Given the description of an element on the screen output the (x, y) to click on. 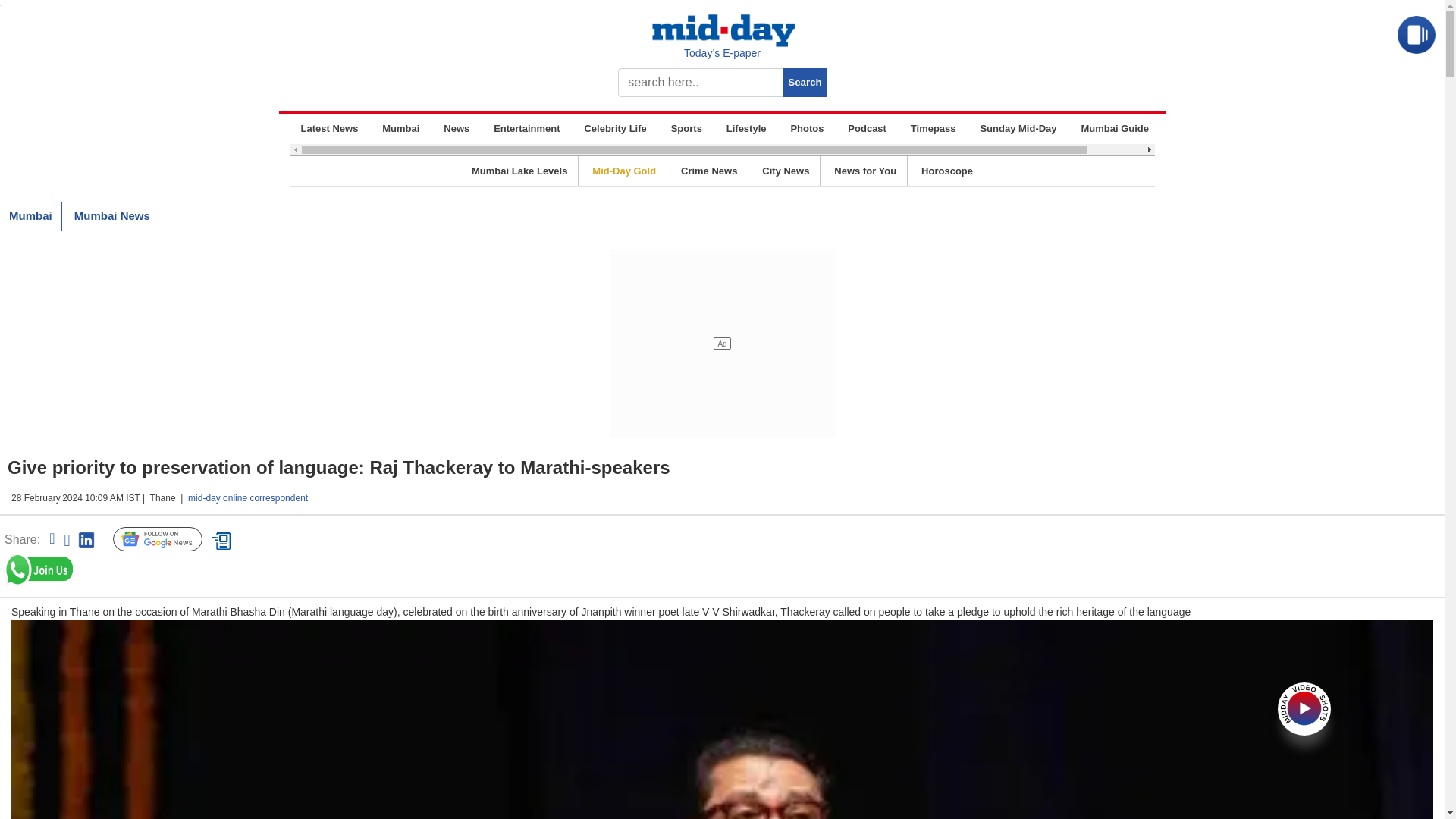
Photos (807, 128)
Whatsapp Channel (118, 569)
Sports (686, 128)
Horoscope (947, 170)
Mid-Day Gold (624, 170)
Sunday Mid-Day (1018, 128)
Celebrity Life (614, 128)
Mumbai Lake Levels (519, 170)
News (456, 128)
Lifestyle (746, 128)
